Given the description of an element on the screen output the (x, y) to click on. 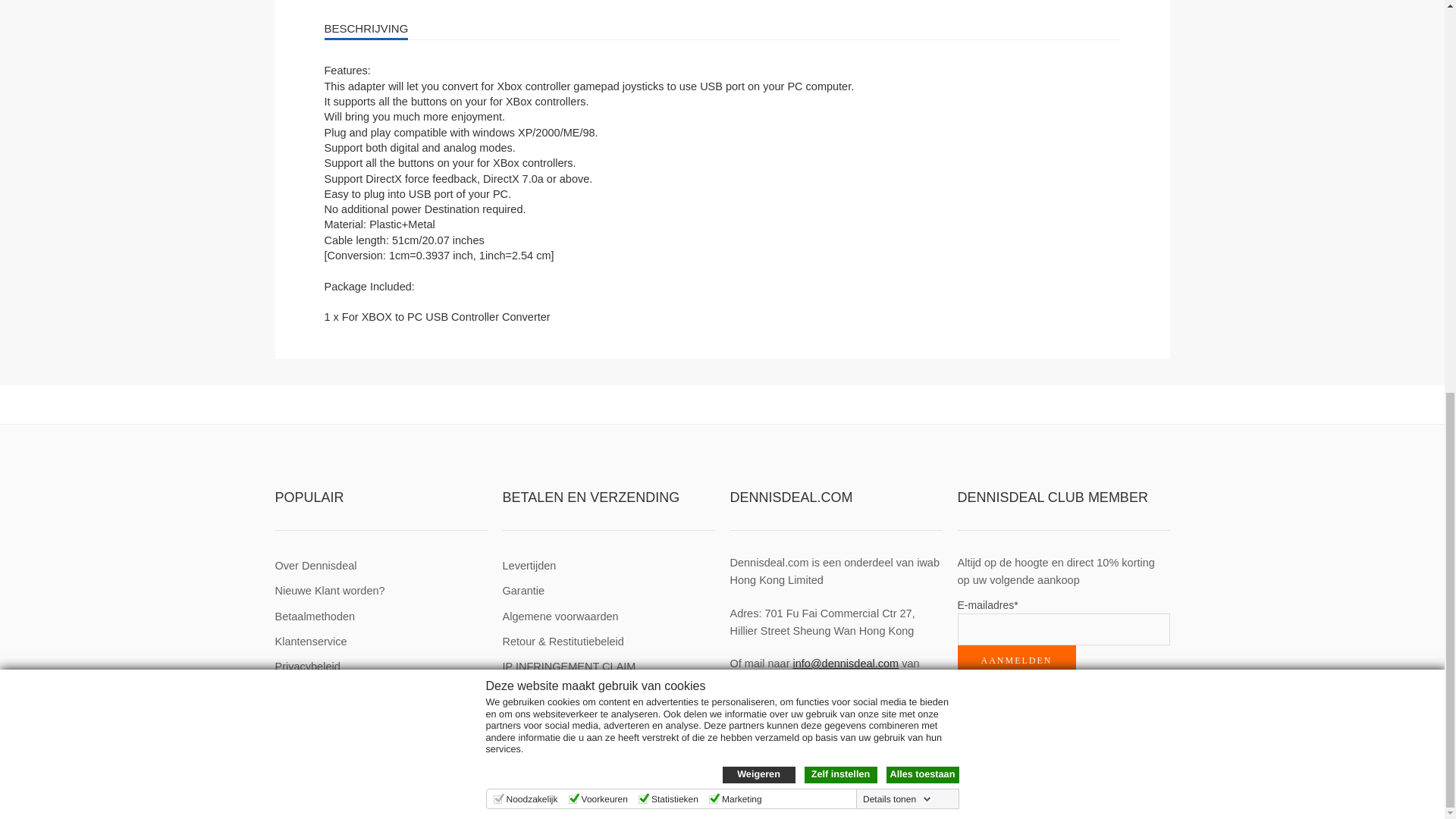
BESCHRIJVING (722, 29)
Details tonen (897, 46)
Aanmelden (1015, 660)
Zelf instellen (839, 22)
Alles toestaan (921, 22)
Weigeren (758, 22)
